Given the description of an element on the screen output the (x, y) to click on. 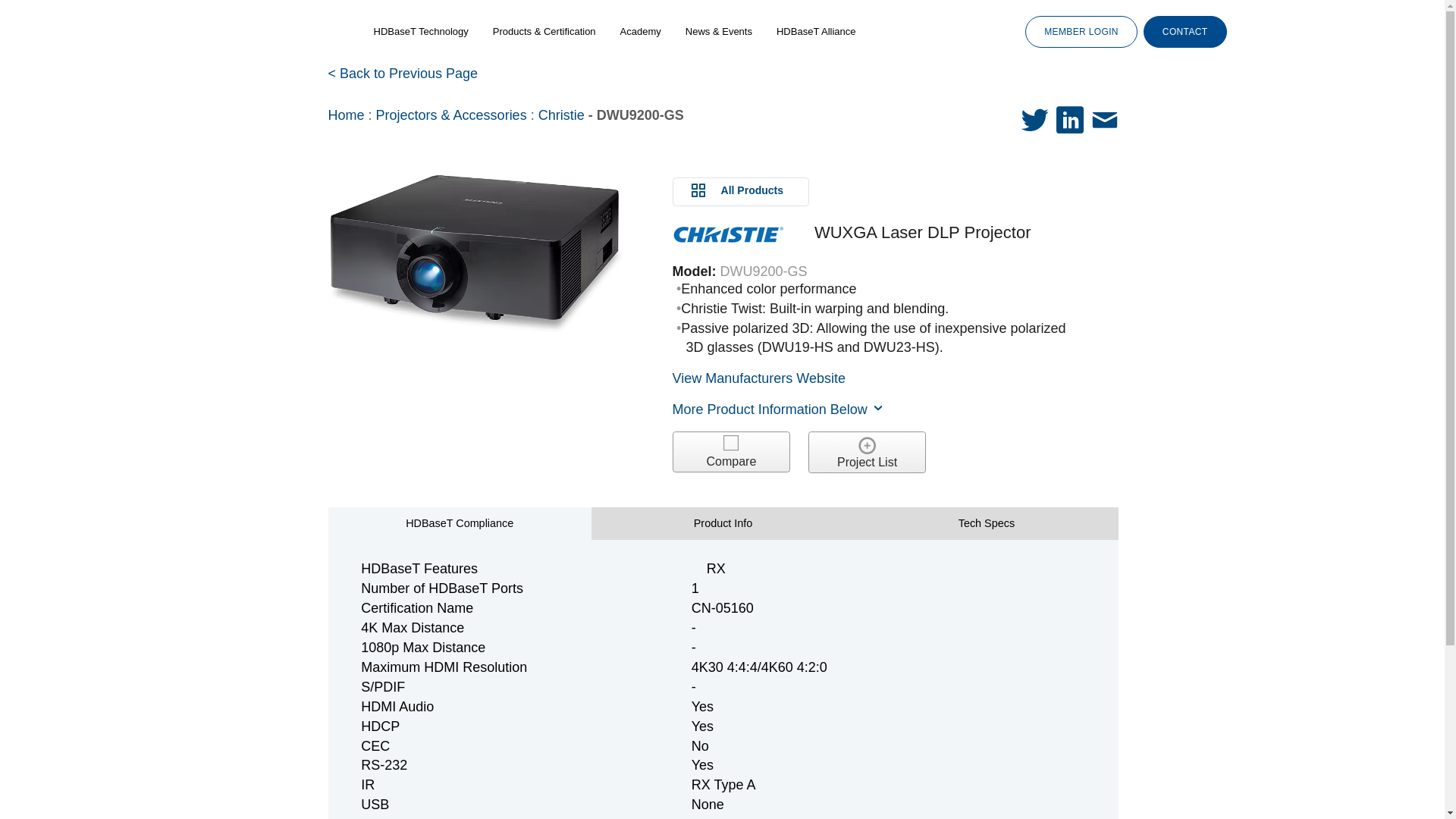
HDBaseT Alliance (816, 31)
More Product Information Below (778, 409)
HDBaseT Technology (419, 31)
Home (345, 114)
MEMBER LOGIN (1081, 31)
Christie (561, 114)
View Manufacturers Website (758, 378)
Academy (640, 31)
CONTACT (1184, 31)
christie (728, 234)
